Given the description of an element on the screen output the (x, y) to click on. 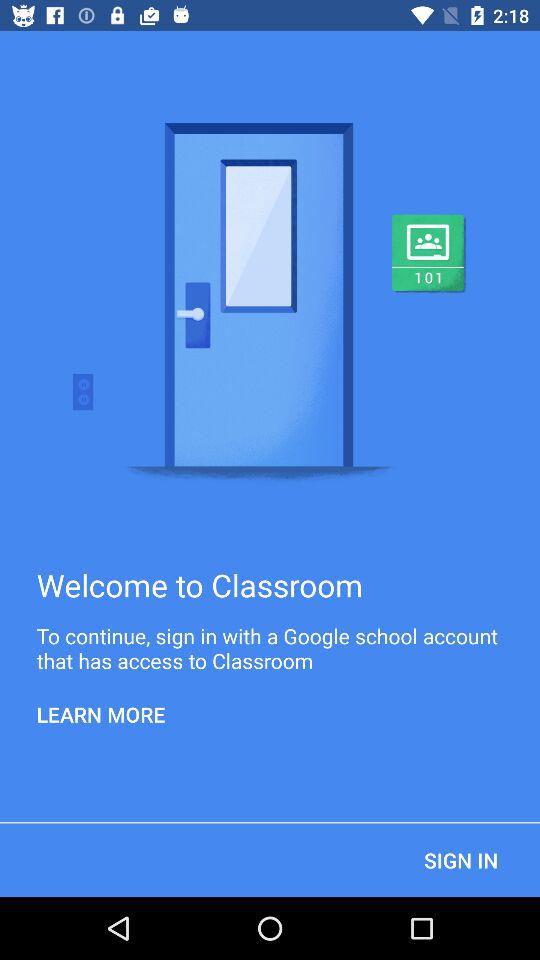
scroll to the learn more (101, 713)
